Given the description of an element on the screen output the (x, y) to click on. 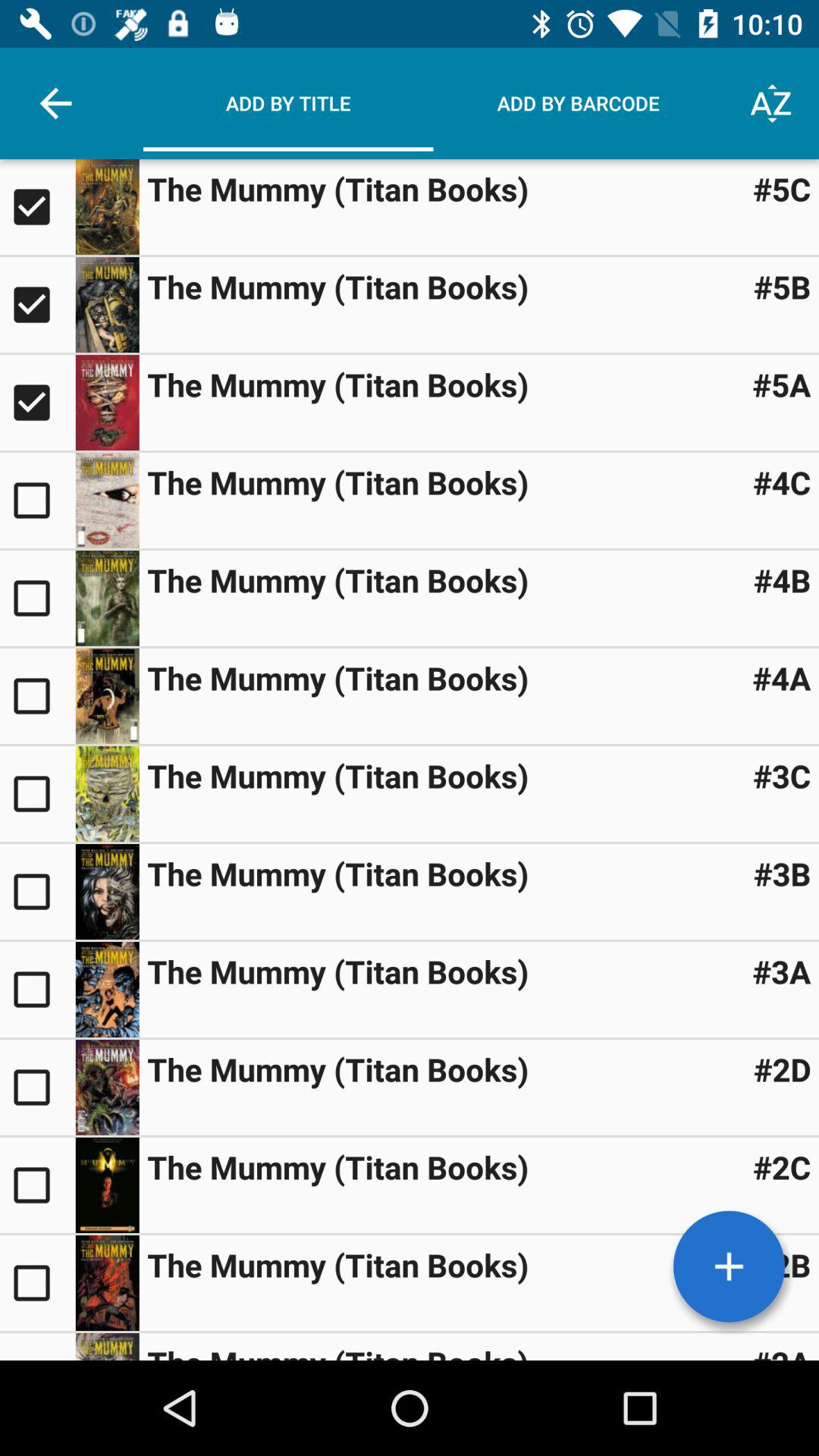
open the selection (107, 695)
